Given the description of an element on the screen output the (x, y) to click on. 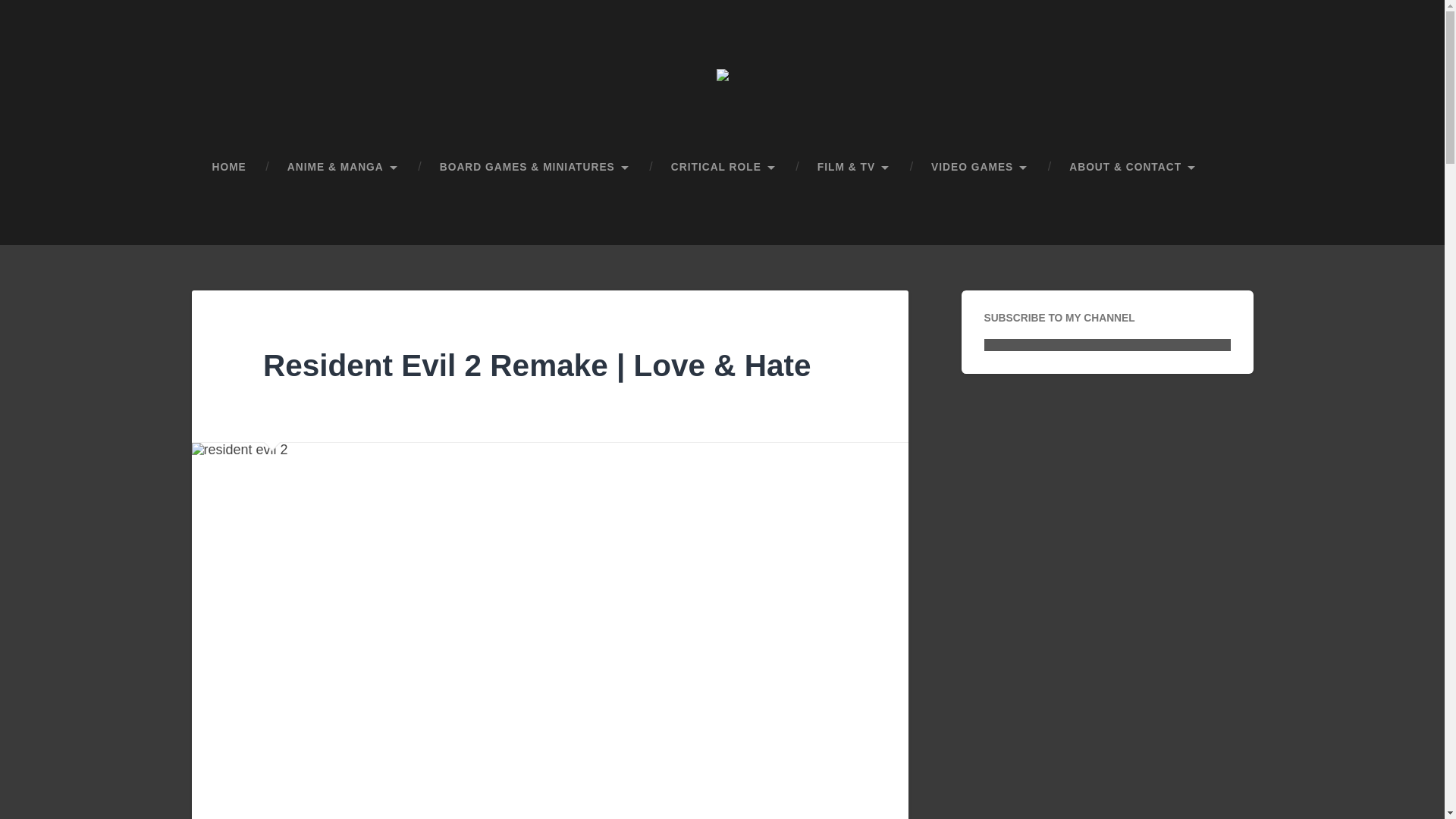
CRITICAL ROLE (723, 167)
VIDEO GAMES (979, 167)
HOME (228, 167)
